Given the description of an element on the screen output the (x, y) to click on. 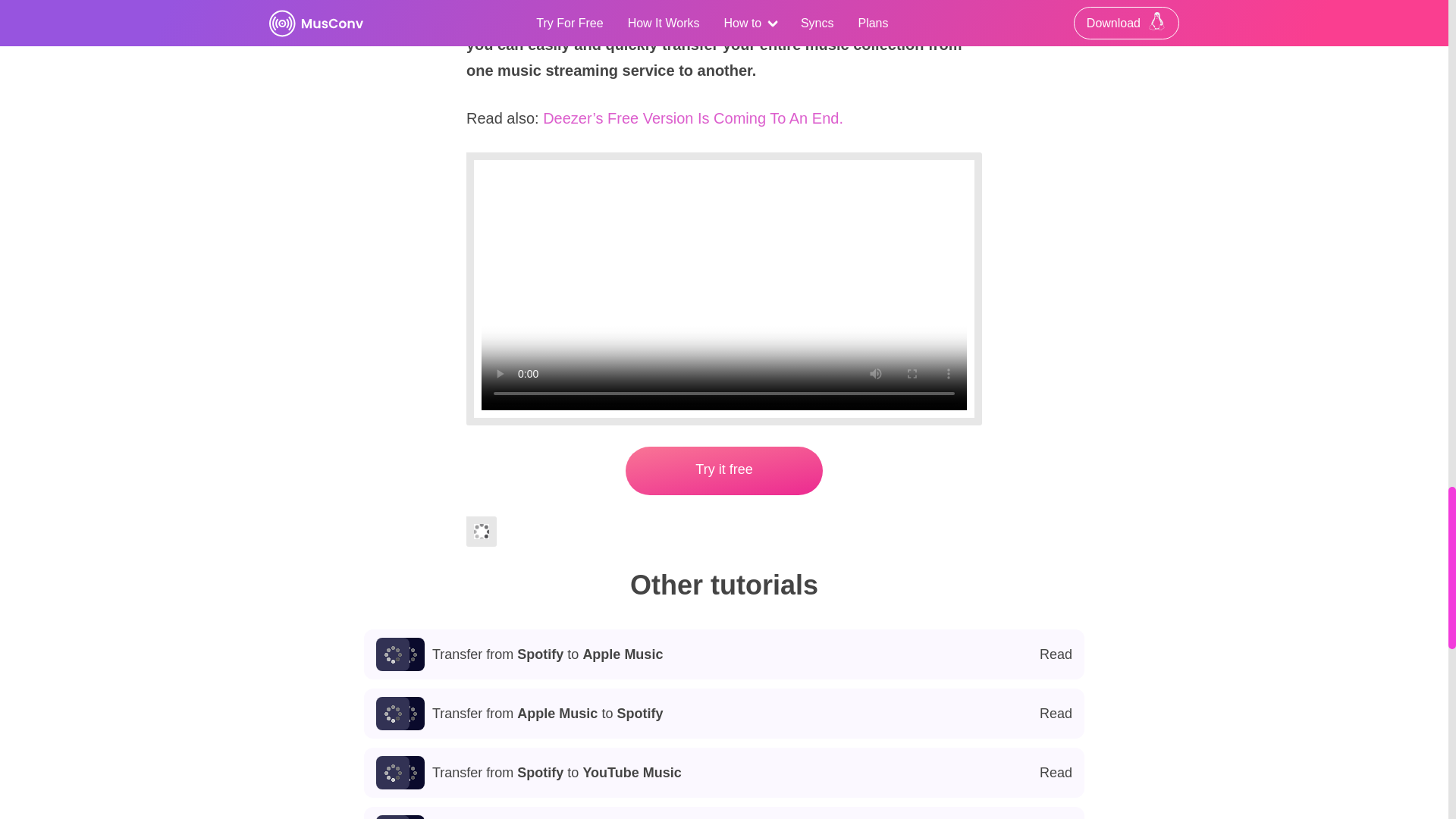
Try it free (724, 653)
